Given the description of an element on the screen output the (x, y) to click on. 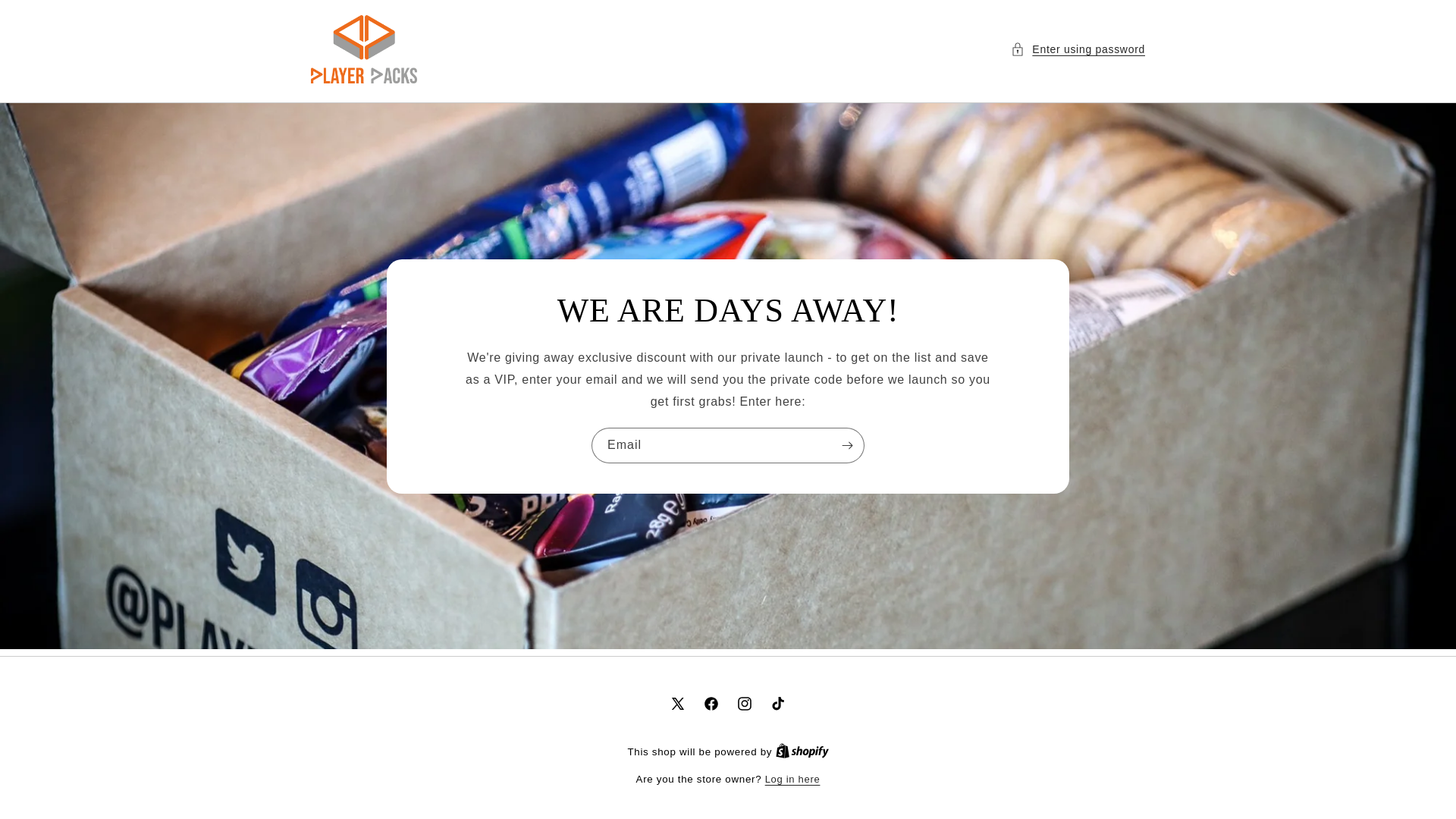
Facebook (711, 703)
TikTok (777, 703)
Skip to content (45, 17)
Log in here (793, 779)
Instagram (744, 703)
